Given the description of an element on the screen output the (x, y) to click on. 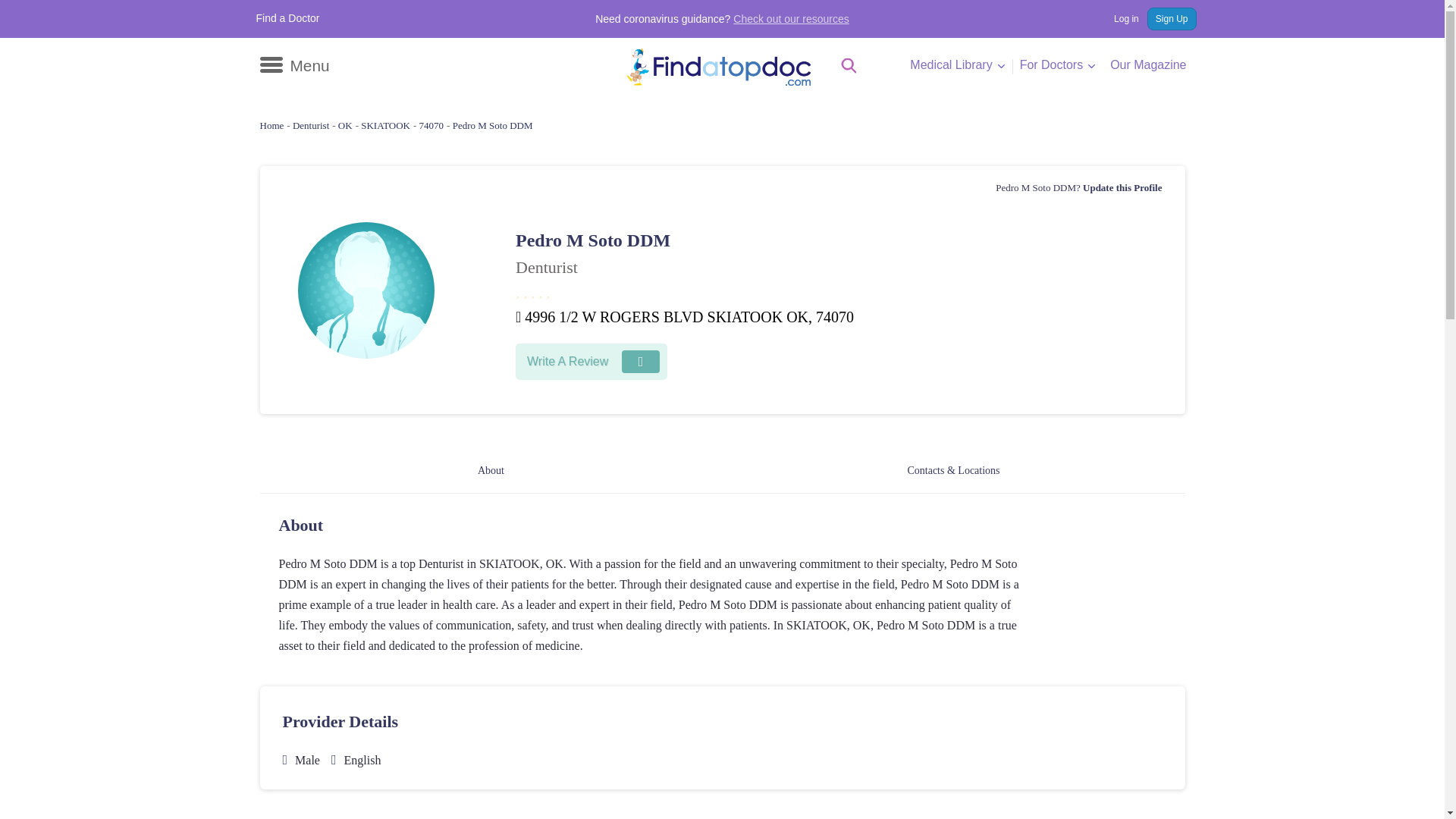
Sign Up (1171, 18)
Check out our resources (790, 19)
Log in (1118, 18)
Find a Doctor (287, 17)
Sign Up (1171, 18)
Menu (294, 65)
Log in (1118, 18)
